Given the description of an element on the screen output the (x, y) to click on. 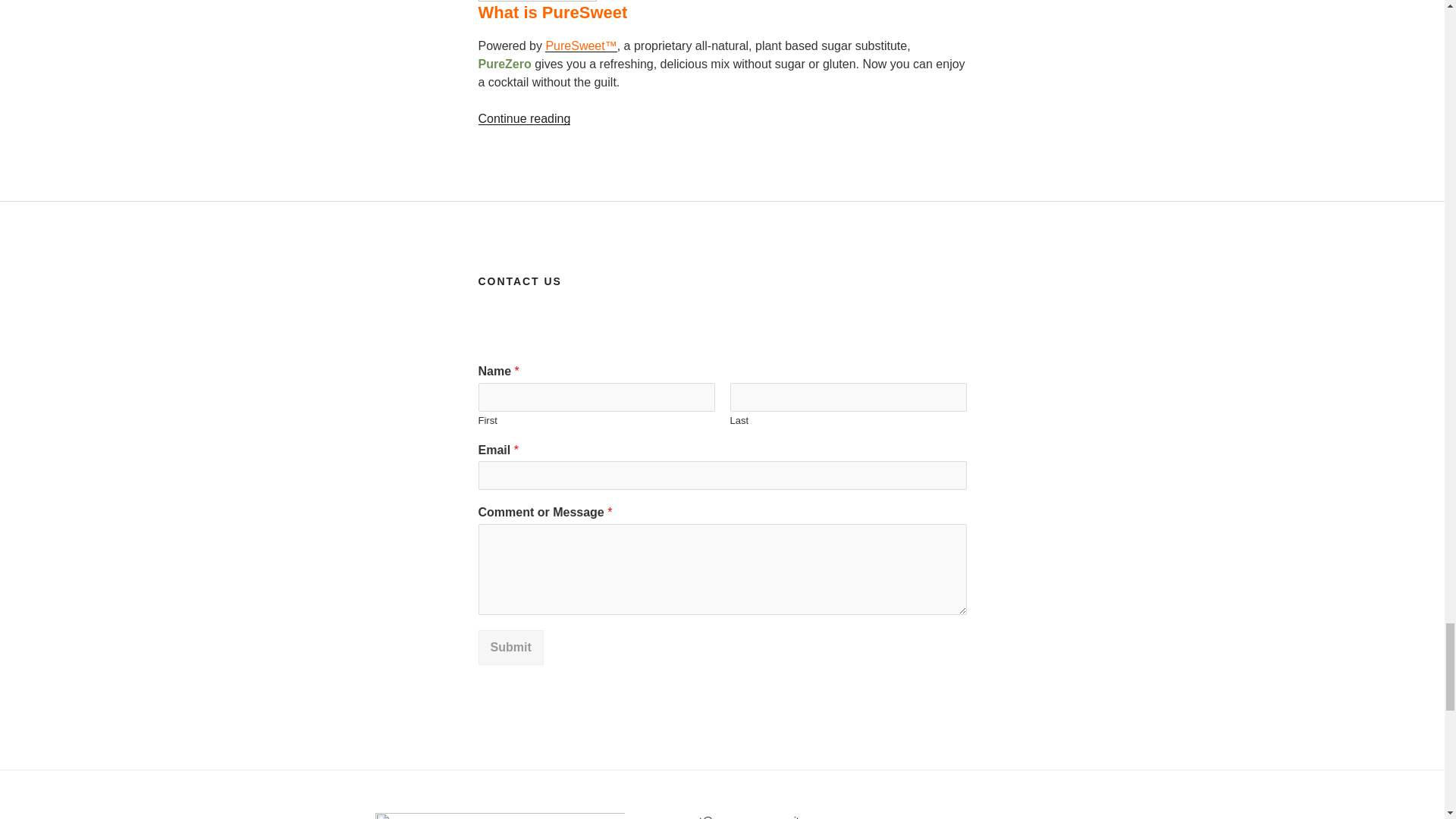
Submit (510, 647)
